Given the description of an element on the screen output the (x, y) to click on. 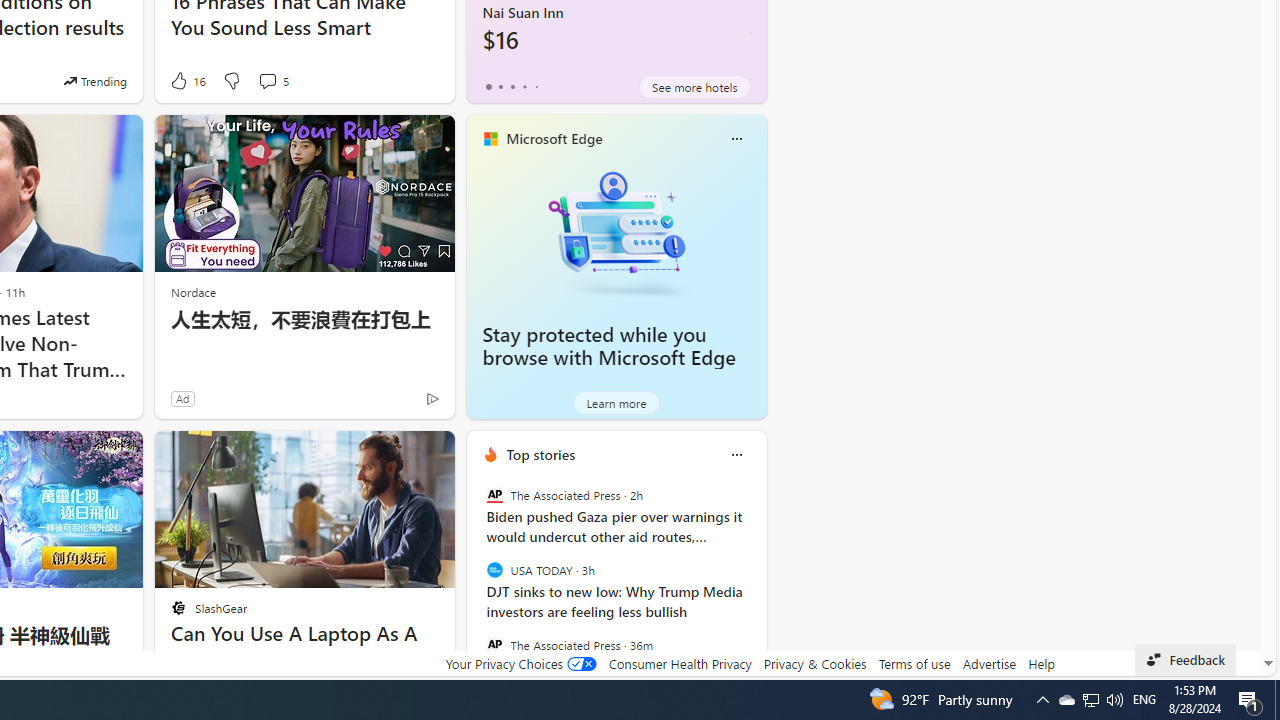
Microsoft Edge (553, 139)
Learn more (616, 402)
tab-3 (524, 86)
See more hotels (694, 86)
More options (736, 454)
Your Privacy Choices (520, 663)
tab-0 (488, 86)
tab-4 (535, 86)
Feedback (1185, 659)
Dislike (230, 80)
Advertise (989, 663)
USA TODAY (494, 570)
Stay protected while you browse with Microsoft Edge (609, 346)
